Given the description of an element on the screen output the (x, y) to click on. 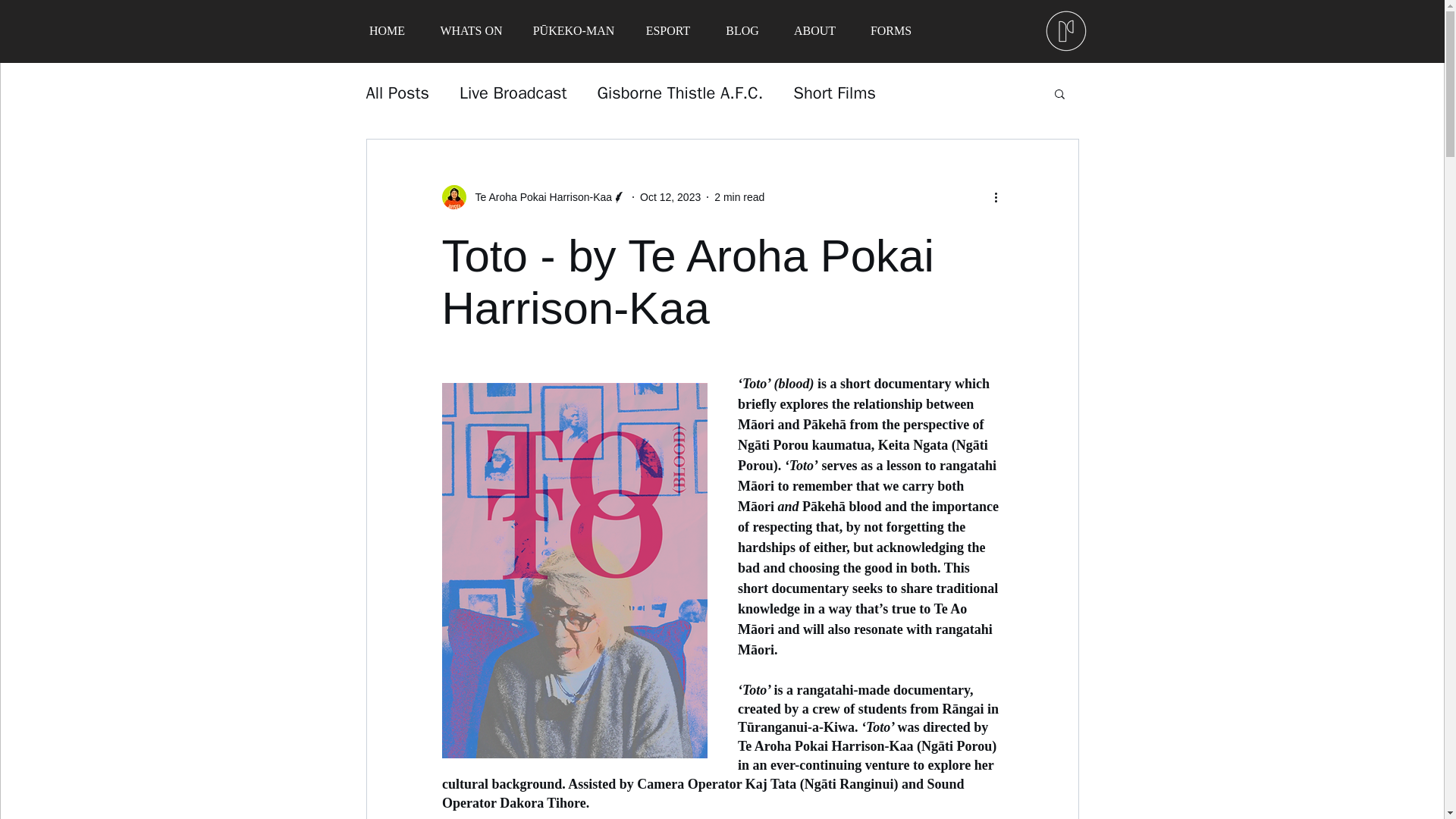
ESPORT (667, 30)
Oct 12, 2023 (670, 196)
Te Aroha Pokai Harrison-Kaa (538, 197)
All Posts (397, 92)
2 min read (739, 196)
WHATS ON (470, 30)
Live Broadcast (513, 92)
Te Aroha Pokai Harrison-Kaa (533, 197)
Short Films (834, 92)
BLOG (742, 30)
